Given the description of an element on the screen output the (x, y) to click on. 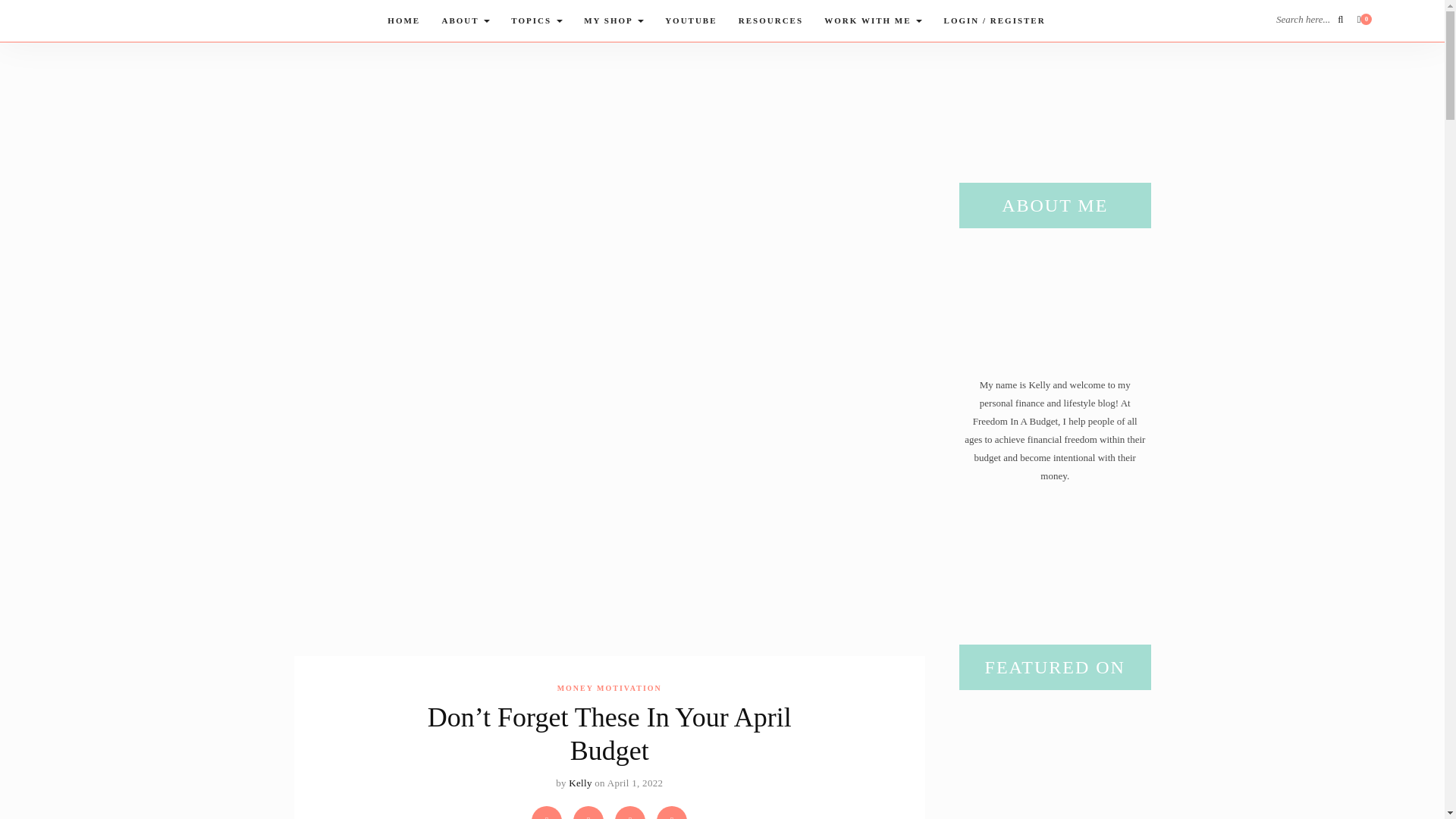
About (465, 20)
0 (1364, 19)
Home (403, 20)
Topics (536, 20)
YOUTUBE (690, 20)
WORK WITH ME (873, 20)
RESOURCES (770, 20)
HOME (403, 20)
MY SHOP (613, 20)
ABOUT (465, 20)
TOPICS (536, 20)
Search here... (1309, 19)
